Given the description of an element on the screen output the (x, y) to click on. 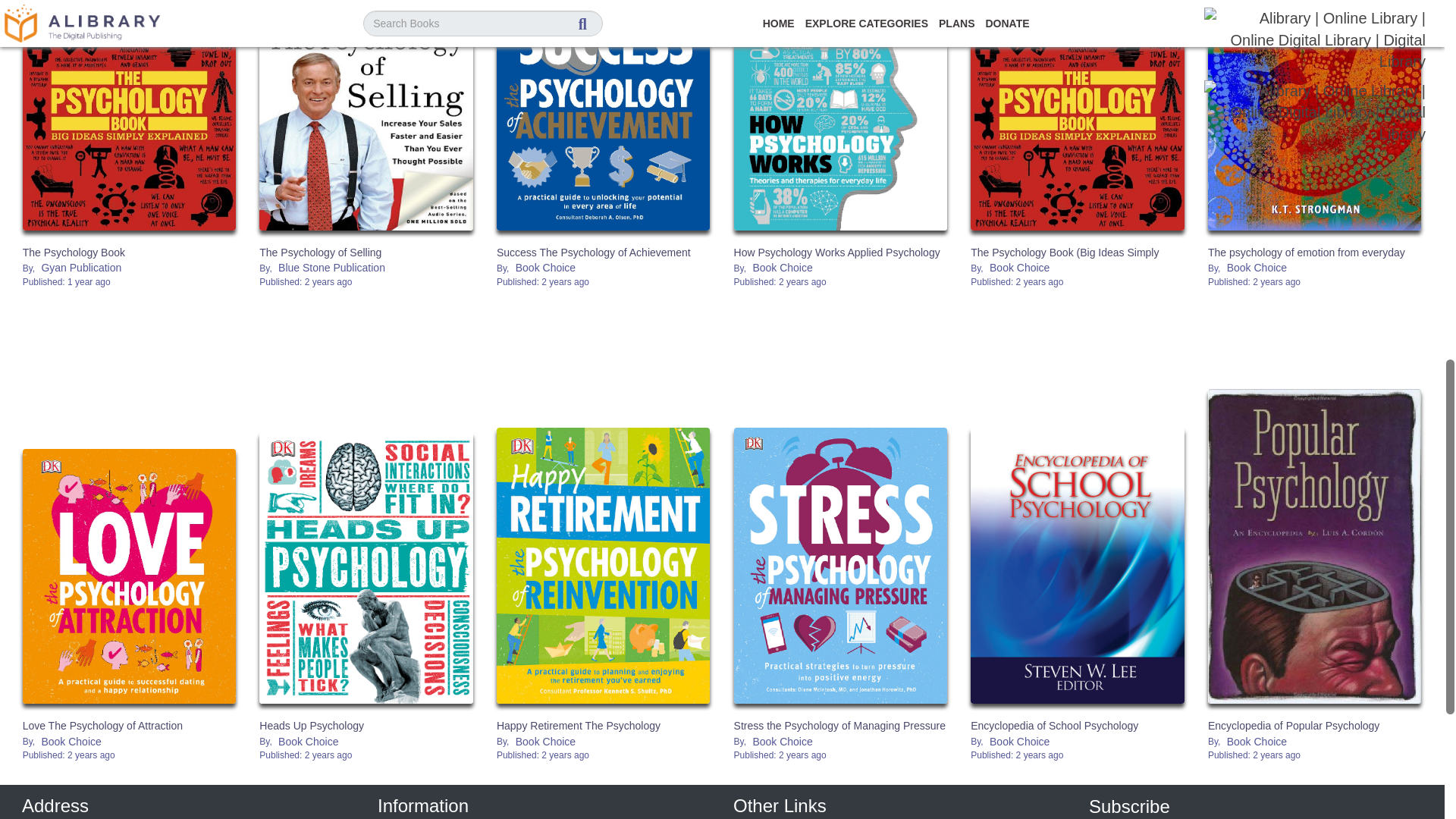
Success The Psychology of Achievement (603, 115)
Book Choice (1018, 267)
The Psychology of Selling (365, 115)
Blue Stone Publication (331, 267)
Book Choice (70, 741)
Love The Psychology of Attraction (103, 725)
Book Choice (1256, 267)
Heads Up Psychology (311, 725)
How Psychology Works Applied Psychology Visually Explained (840, 115)
Book Choice (545, 267)
Happy Retirement The Psychology (578, 725)
Book Choice (308, 741)
Success The Psychology of Achievement (593, 252)
Gyan Publication (81, 267)
